Given the description of an element on the screen output the (x, y) to click on. 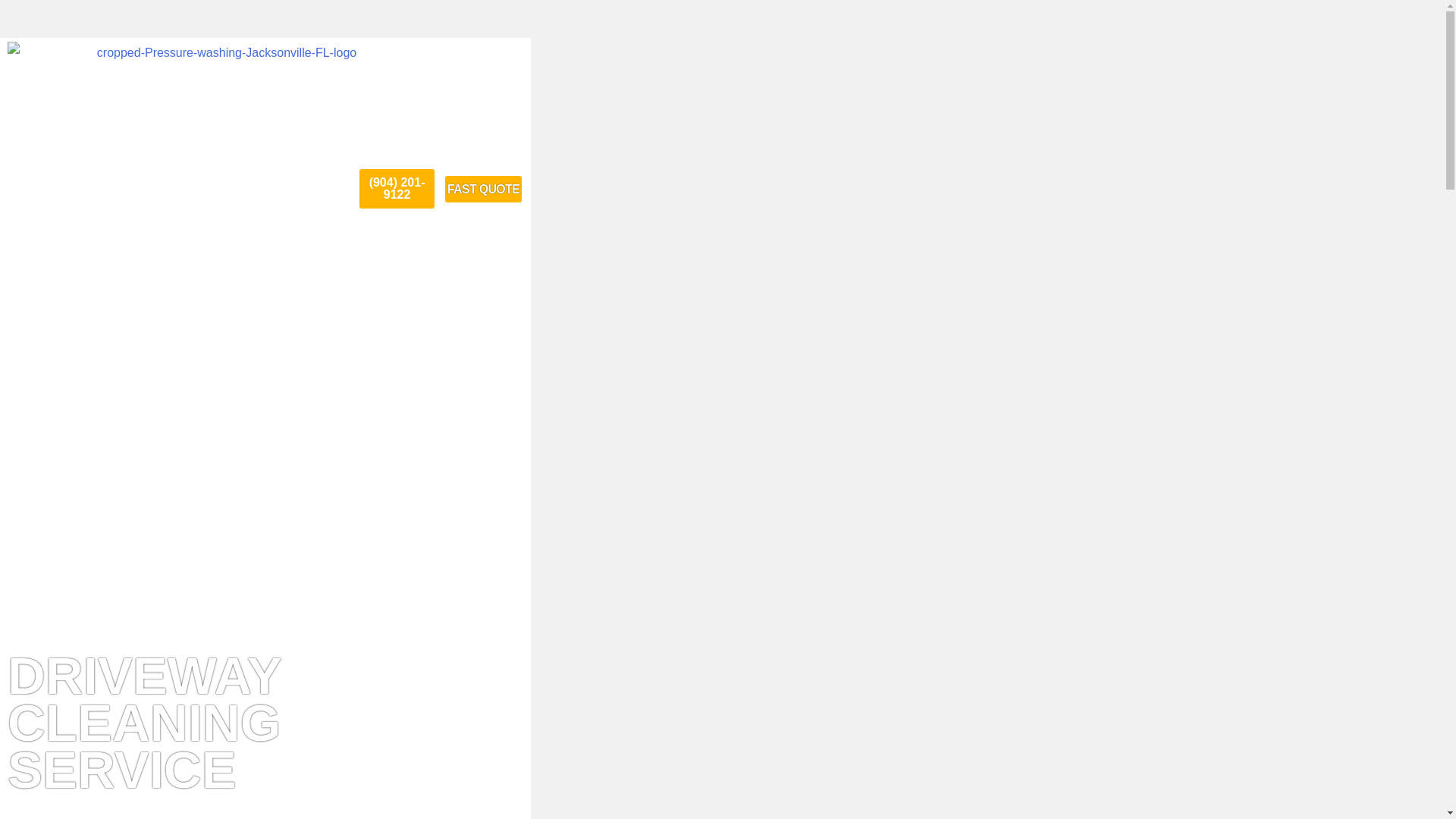
News (324, 182)
Services (173, 182)
About (130, 182)
Home (92, 182)
Reviews (224, 182)
Locations (278, 182)
